Given the description of an element on the screen output the (x, y) to click on. 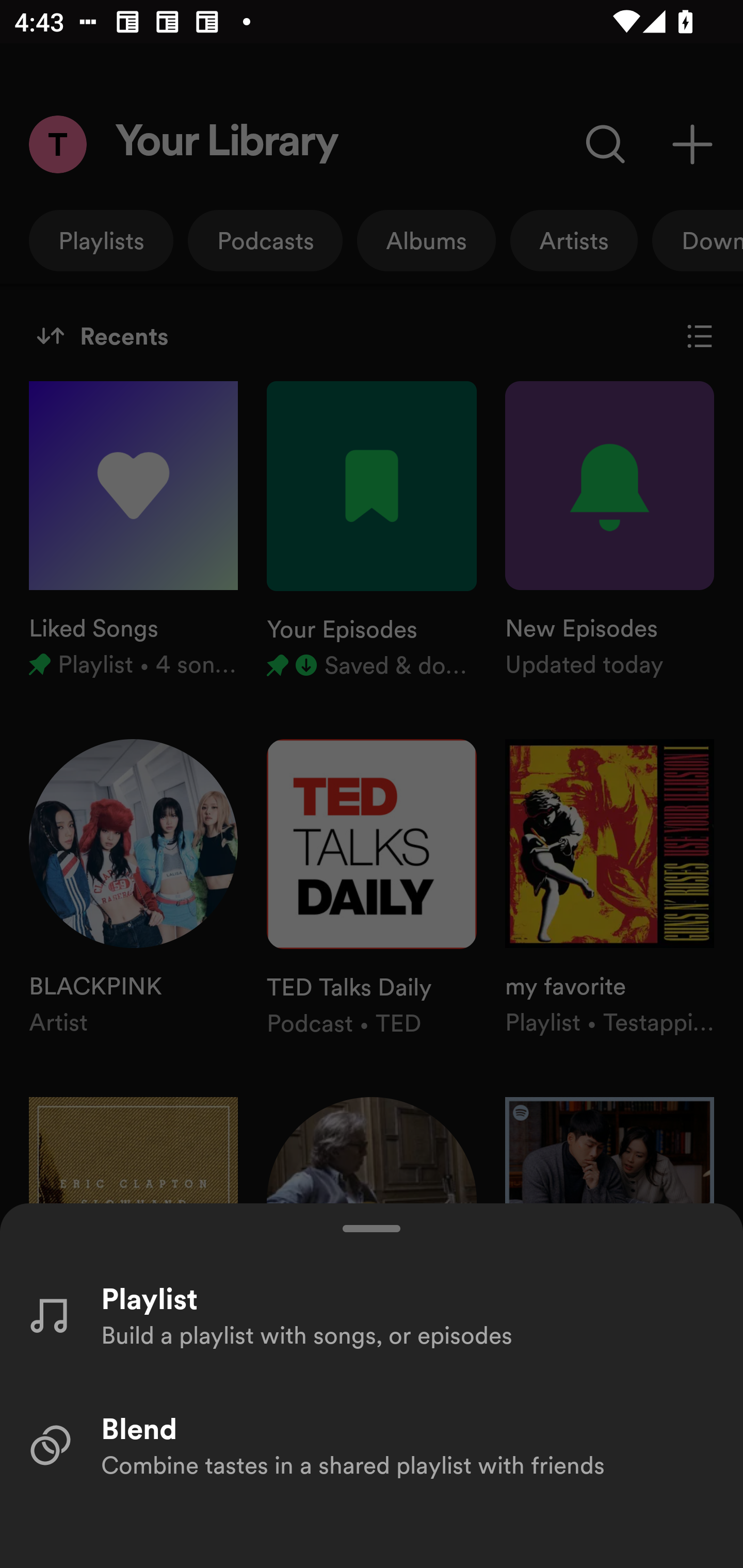
Playlist Build a playlist with songs, or episodes (371, 1314)
